Given the description of an element on the screen output the (x, y) to click on. 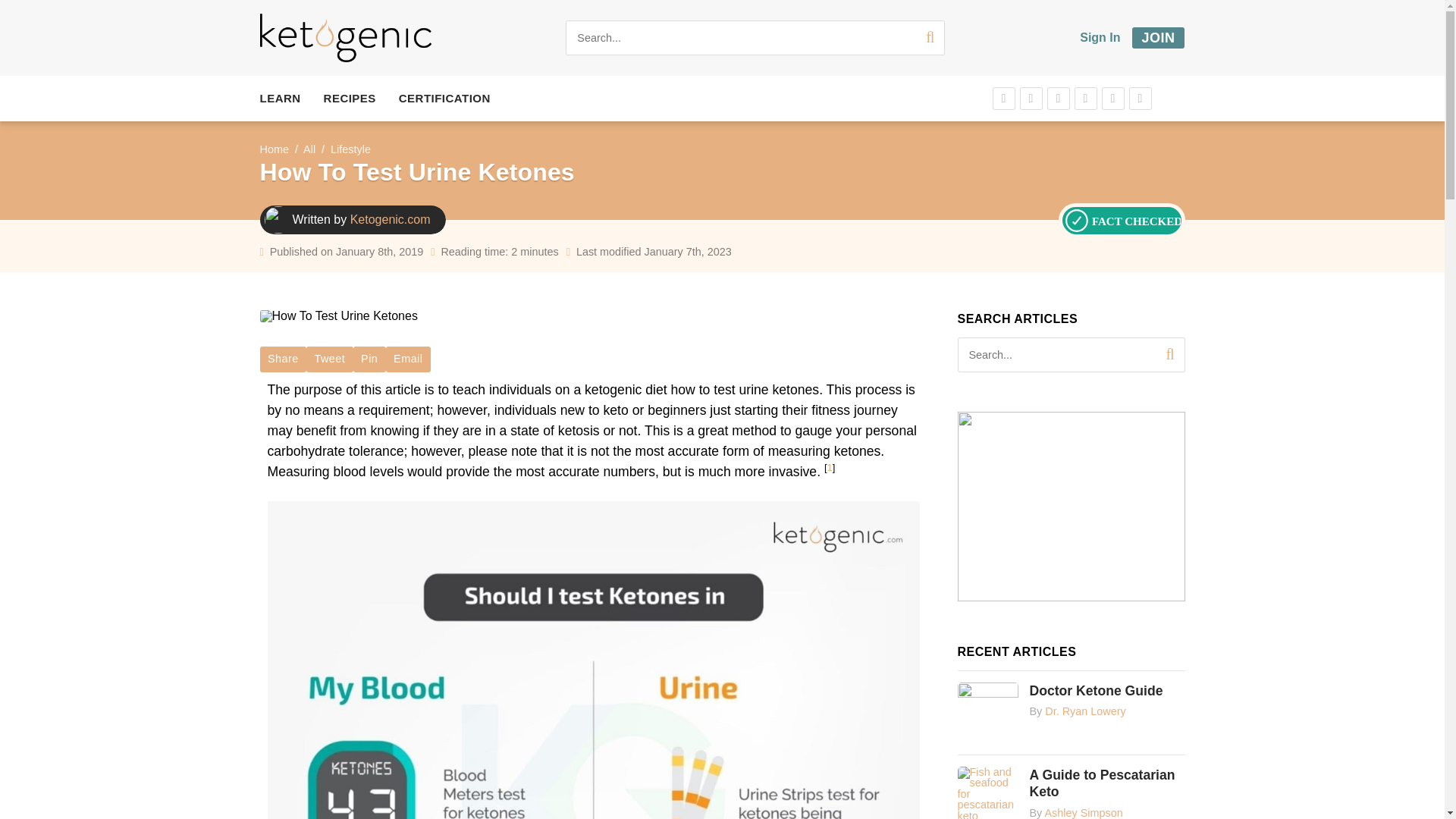
Posts by Ketogenic.com (390, 219)
Search (927, 37)
JOIN (1158, 37)
RECIPES (349, 98)
Sign In (1099, 37)
FACT CHECKED (1121, 221)
